Given the description of an element on the screen output the (x, y) to click on. 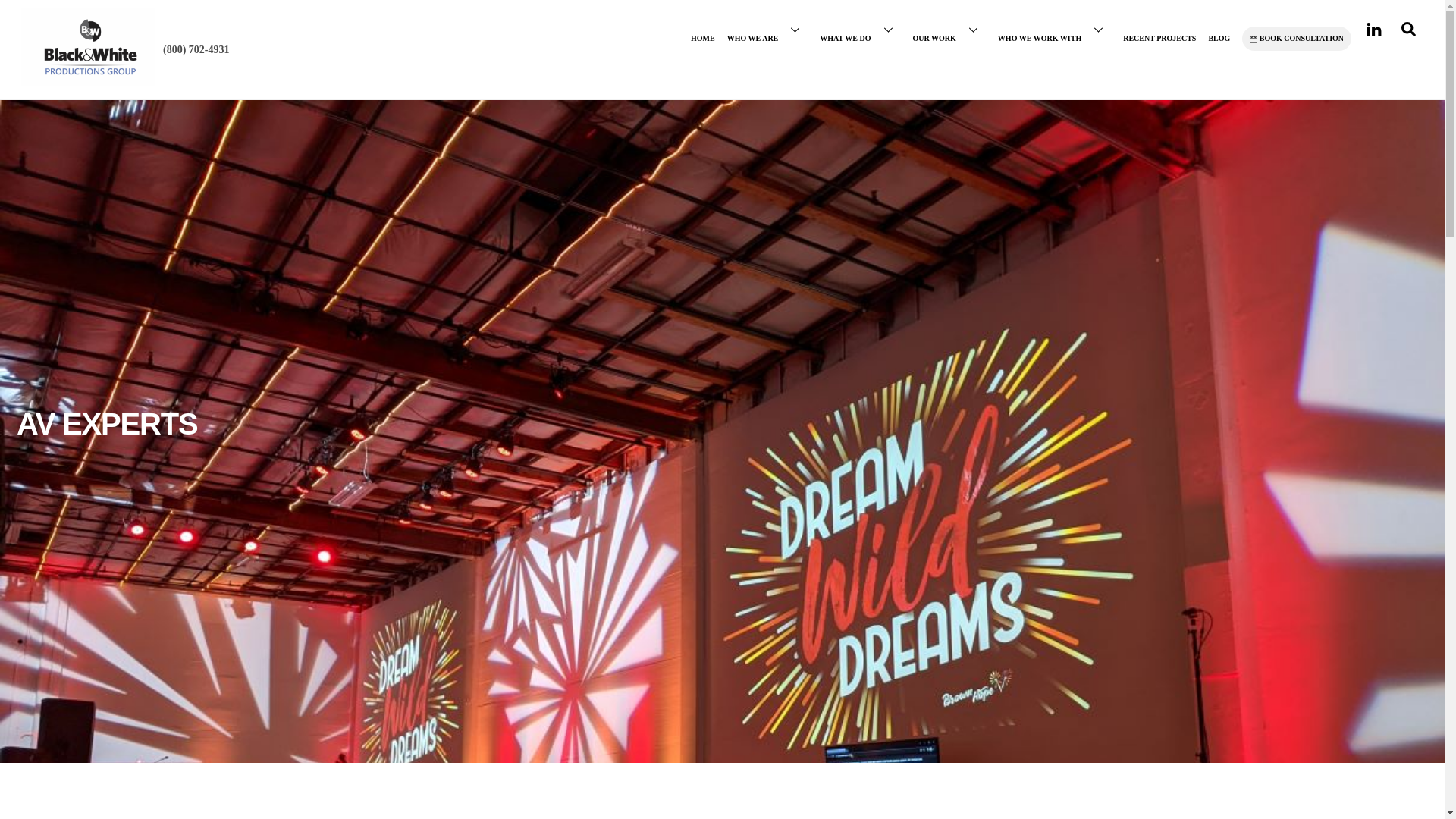
SEARCH (1408, 28)
WHO WE ARE (767, 28)
WHAT WE DO (859, 28)
OUR WORK (949, 28)
WHO WE WORK WITH (1053, 28)
01black (88, 46)
BOOK CONSULTATION (1296, 38)
RECENT PROJECTS (1158, 28)
